Given the description of an element on the screen output the (x, y) to click on. 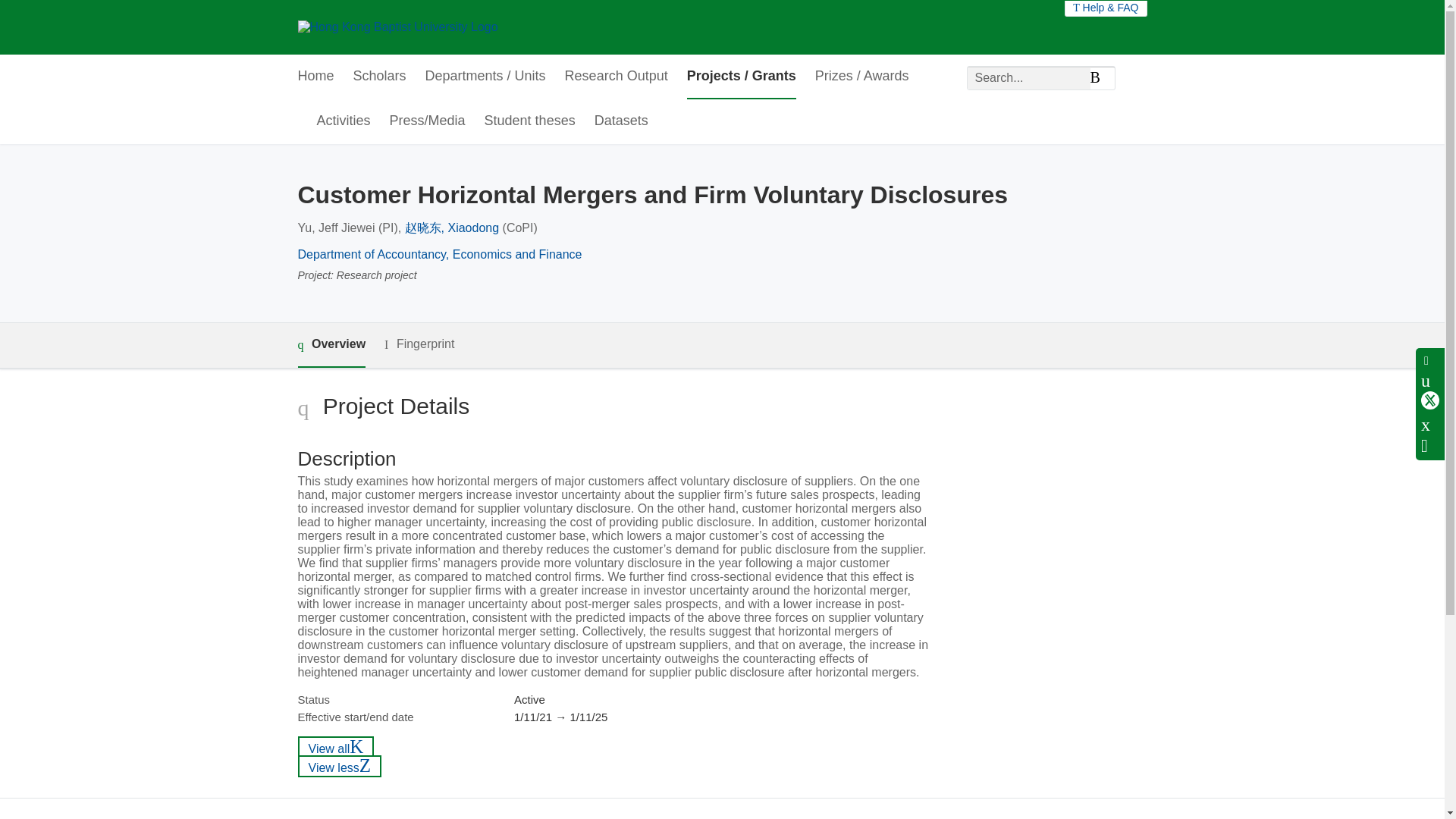
Activities (344, 121)
Student theses (529, 121)
Fingerprint (419, 344)
Overview (331, 344)
View all (335, 747)
Datasets (620, 121)
Hong Kong Baptist University Home (397, 27)
Research Output (616, 76)
Scholars (379, 76)
